Given the description of an element on the screen output the (x, y) to click on. 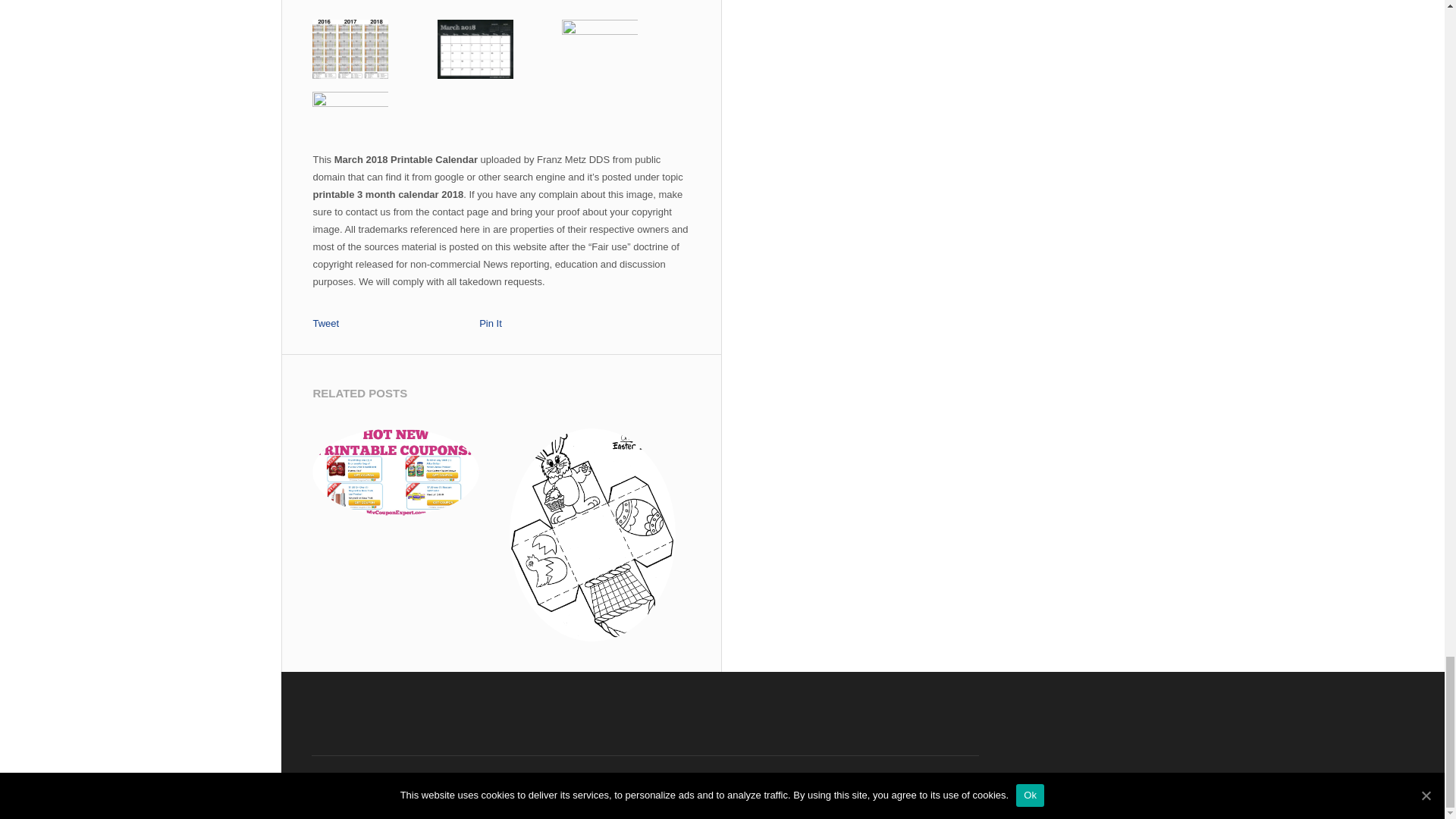
Download Free Printable Templates (426, 789)
nexium printable coupon 2017 (396, 474)
